Given the description of an element on the screen output the (x, y) to click on. 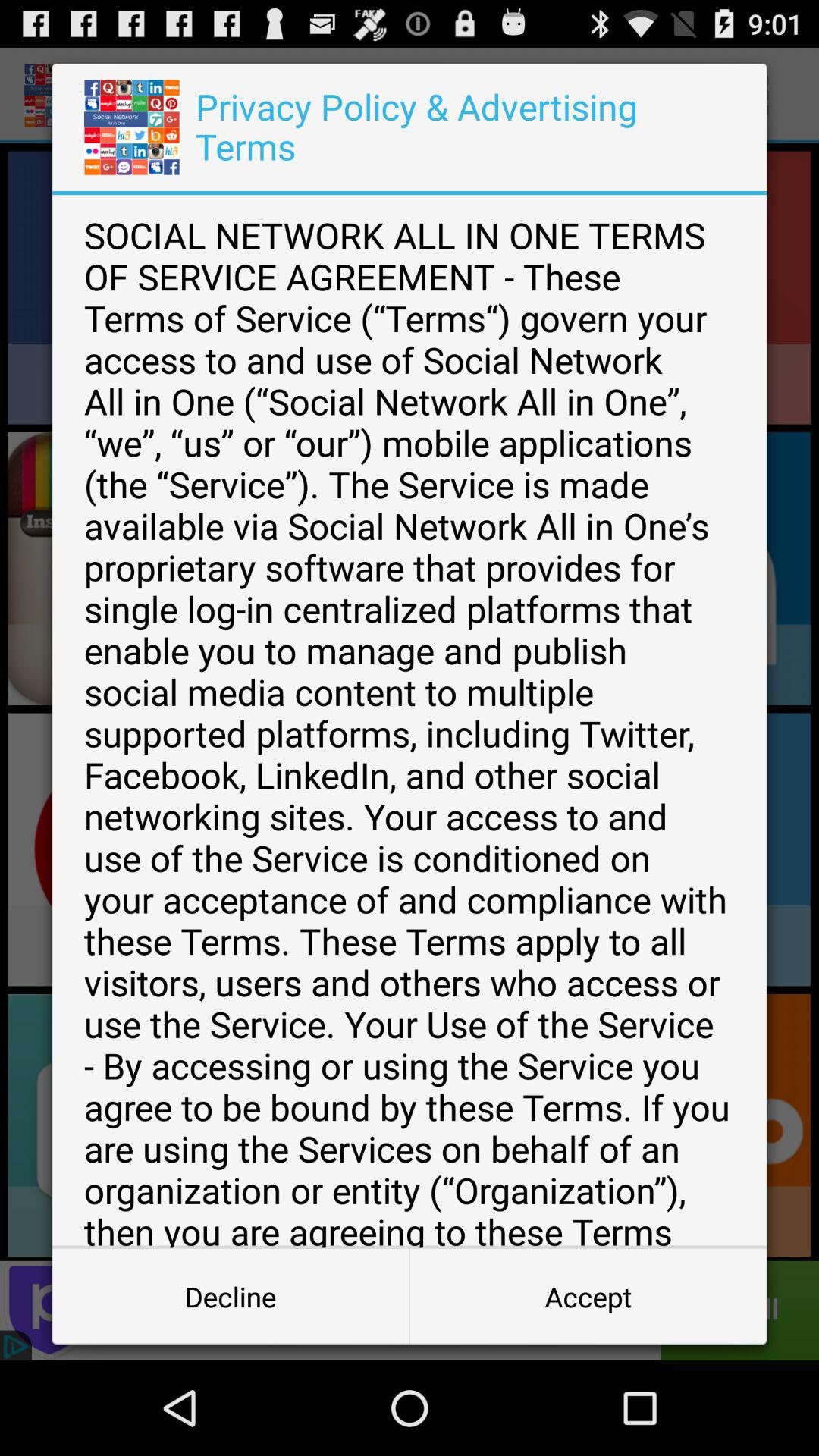
choose the social network all item (409, 721)
